Given the description of an element on the screen output the (x, y) to click on. 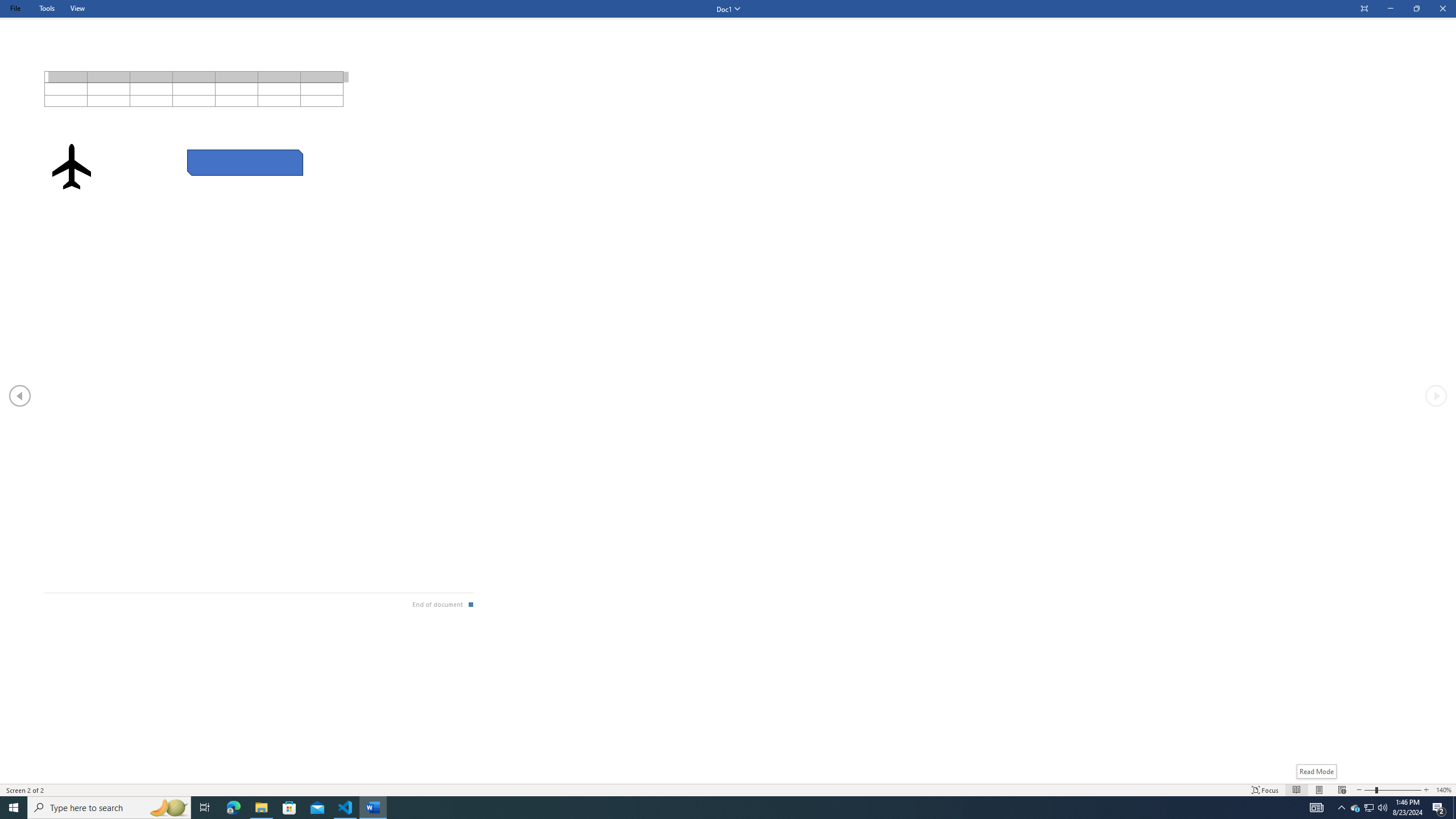
Page Number Screen 2 of 2  (25, 790)
Airplane with solid fill (71, 166)
Decrease Text Size (1359, 790)
Increase Text Size (1426, 790)
Text Size (1392, 790)
